Given the description of an element on the screen output the (x, y) to click on. 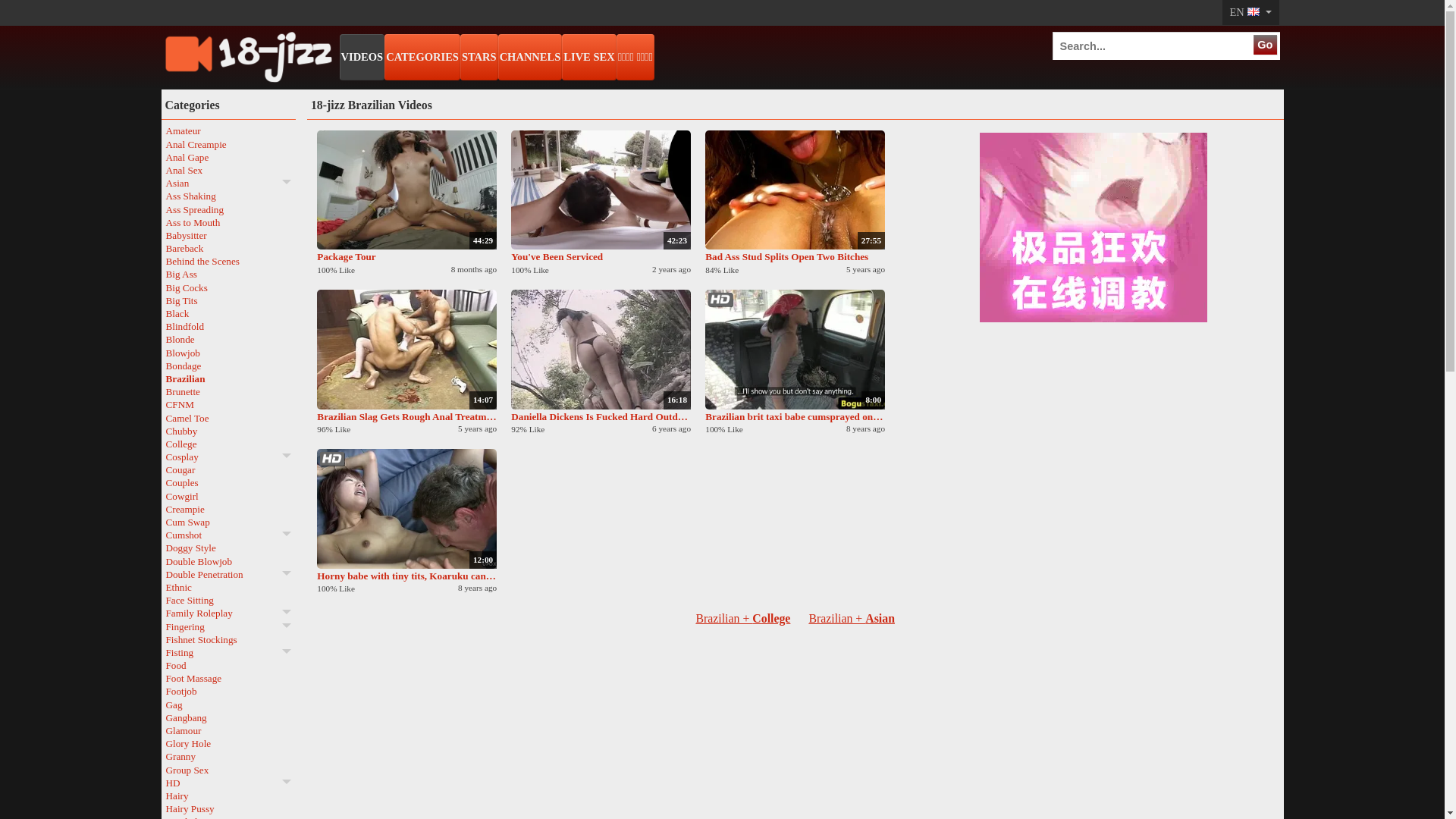
Granny Element type: text (228, 755)
Group Sex Element type: text (228, 769)
LIVE SEX Element type: text (588, 57)
CATEGORIES Element type: text (422, 57)
Brazilian + College Element type: text (742, 617)
Package Tour Element type: text (406, 256)
Face Sitting Element type: text (228, 599)
CHANNELS Element type: text (530, 57)
Ass Shaking Element type: text (228, 195)
Daniella Dickens Is Fucked Hard Outdoors Element type: text (600, 416)
Food Element type: text (228, 664)
Brunette Element type: text (228, 391)
Couples Element type: text (228, 482)
HD Element type: text (228, 782)
Footjob Element type: text (228, 690)
Blindfold Element type: text (228, 326)
Cumshot Element type: text (228, 534)
Gag Element type: text (228, 704)
Behind the Scenes Element type: text (228, 260)
Double Penetration Element type: text (228, 573)
Foot Massage Element type: text (228, 677)
Big Ass Element type: text (228, 273)
44:29 Element type: text (406, 190)
Glamour Element type: text (228, 730)
Amateur Element type: text (228, 130)
Blowjob Element type: text (228, 352)
Hairy Pussy Element type: text (228, 808)
Cowgirl Element type: text (228, 495)
Brazilian Slag Gets Rough Anal Treatment Element type: text (406, 416)
Family Roleplay Element type: text (228, 612)
Bad Ass Stud Splits Open Two Bitches Element type: text (794, 256)
Ass Spreading Element type: text (228, 209)
Cosplay Element type: text (228, 456)
Chubby Element type: text (228, 430)
VIDEOS Element type: text (362, 57)
Anal Creampie Element type: text (228, 144)
Ethnic Element type: text (228, 586)
Cum Swap Element type: text (228, 521)
Horny babe with tiny tits, Koaruku can't stop having sex Element type: text (406, 575)
Hairy Element type: text (228, 795)
Fishnet Stockings Element type: text (228, 639)
Doggy Style Element type: text (228, 547)
Big Tits Element type: text (228, 300)
Ass to Mouth Element type: text (228, 222)
12:00 Element type: text (406, 508)
Anal Sex Element type: text (228, 169)
Go Element type: text (1264, 44)
College Element type: text (228, 443)
You've Been Serviced Element type: text (600, 256)
Blonde Element type: text (228, 338)
Brazilian Element type: text (228, 378)
EN Element type: text (1249, 12)
27:55 Element type: text (794, 190)
Double Blowjob Element type: text (228, 561)
Creampie Element type: text (228, 508)
Camel Toe Element type: text (228, 417)
Brazilian brit taxi babe cumsprayed on pussy Element type: text (794, 416)
Big Cocks Element type: text (228, 287)
Black Element type: text (228, 313)
Asian Element type: text (228, 182)
Fingering Element type: text (228, 626)
Cougar Element type: text (228, 469)
STARS Element type: text (479, 57)
Anal Gape Element type: text (228, 156)
Glory Hole Element type: text (228, 743)
Brazilian + Asian Element type: text (851, 617)
Gangbang Element type: text (228, 717)
Bareback Element type: text (228, 247)
8:00 Element type: text (794, 349)
CFNM Element type: text (228, 404)
16:18 Element type: text (600, 349)
14:07 Element type: text (406, 349)
Bondage Element type: text (228, 365)
Babysitter Element type: text (228, 235)
Fisting Element type: text (228, 652)
42:23 Element type: text (600, 190)
